Given the description of an element on the screen output the (x, y) to click on. 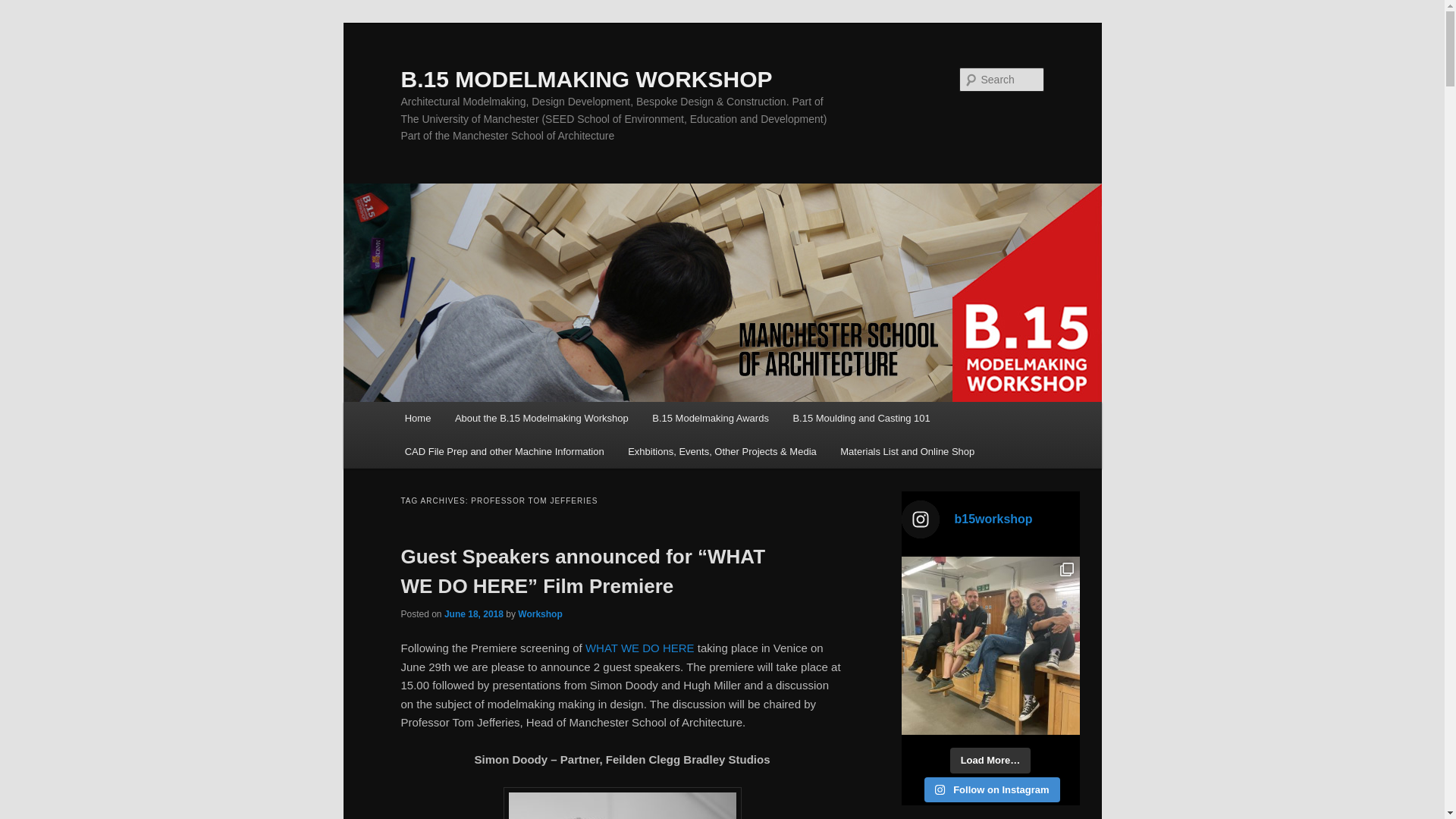
About the B.15 Modelmaking Workshop (541, 418)
Search (24, 8)
Materials List and Online Shop (907, 450)
WHAT WE DO HERE (639, 647)
B.15 Modelmaking Awards (710, 418)
CAD File Prep and other Machine Information (504, 450)
B.15 MODELMAKING WORKSHOP (585, 78)
Home (417, 418)
B.15 Moulding and Casting 101 (861, 418)
